Given the description of an element on the screen output the (x, y) to click on. 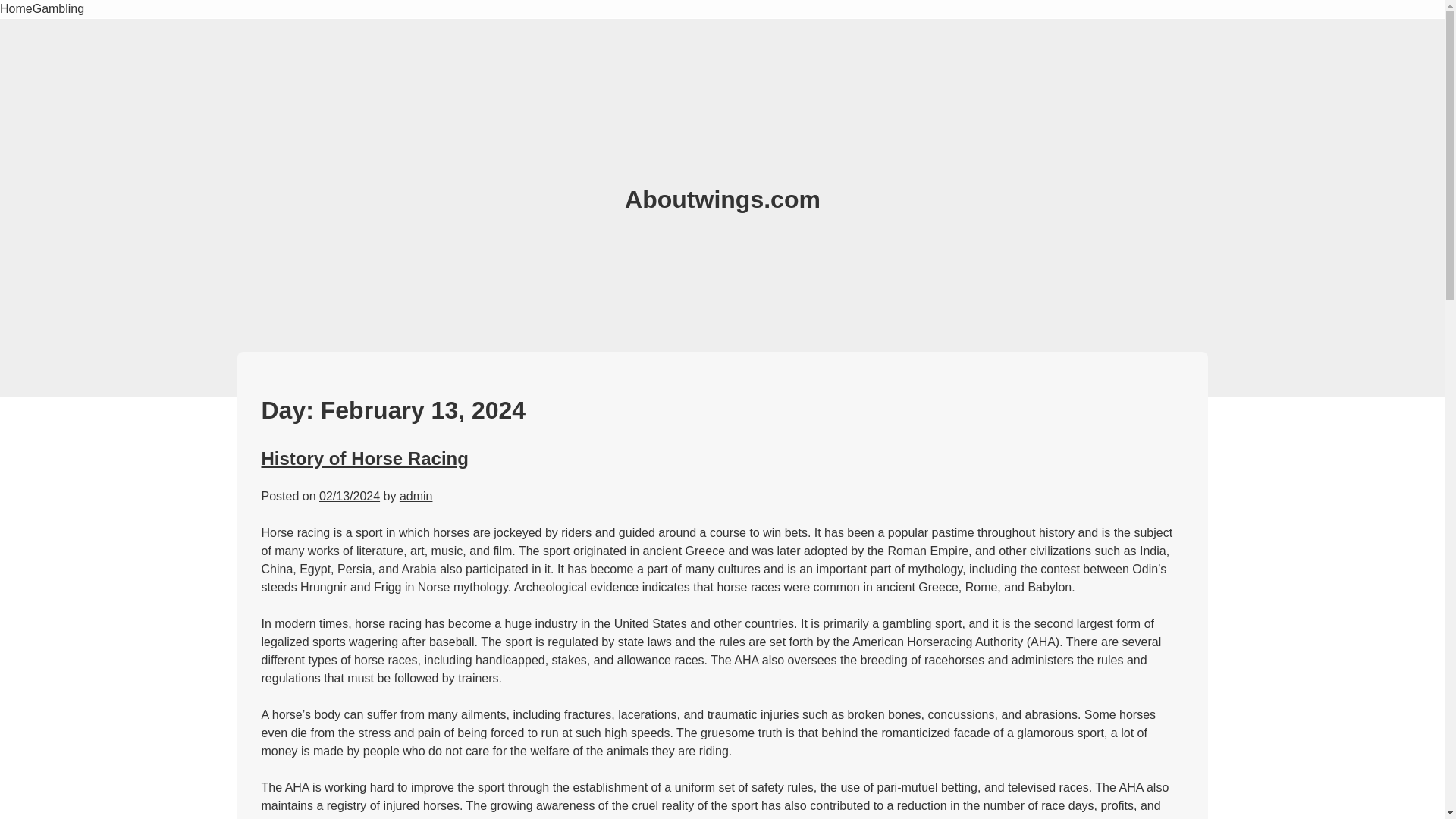
admin (415, 495)
Home (16, 9)
History of Horse Racing (363, 457)
Gambling (58, 9)
